Given the description of an element on the screen output the (x, y) to click on. 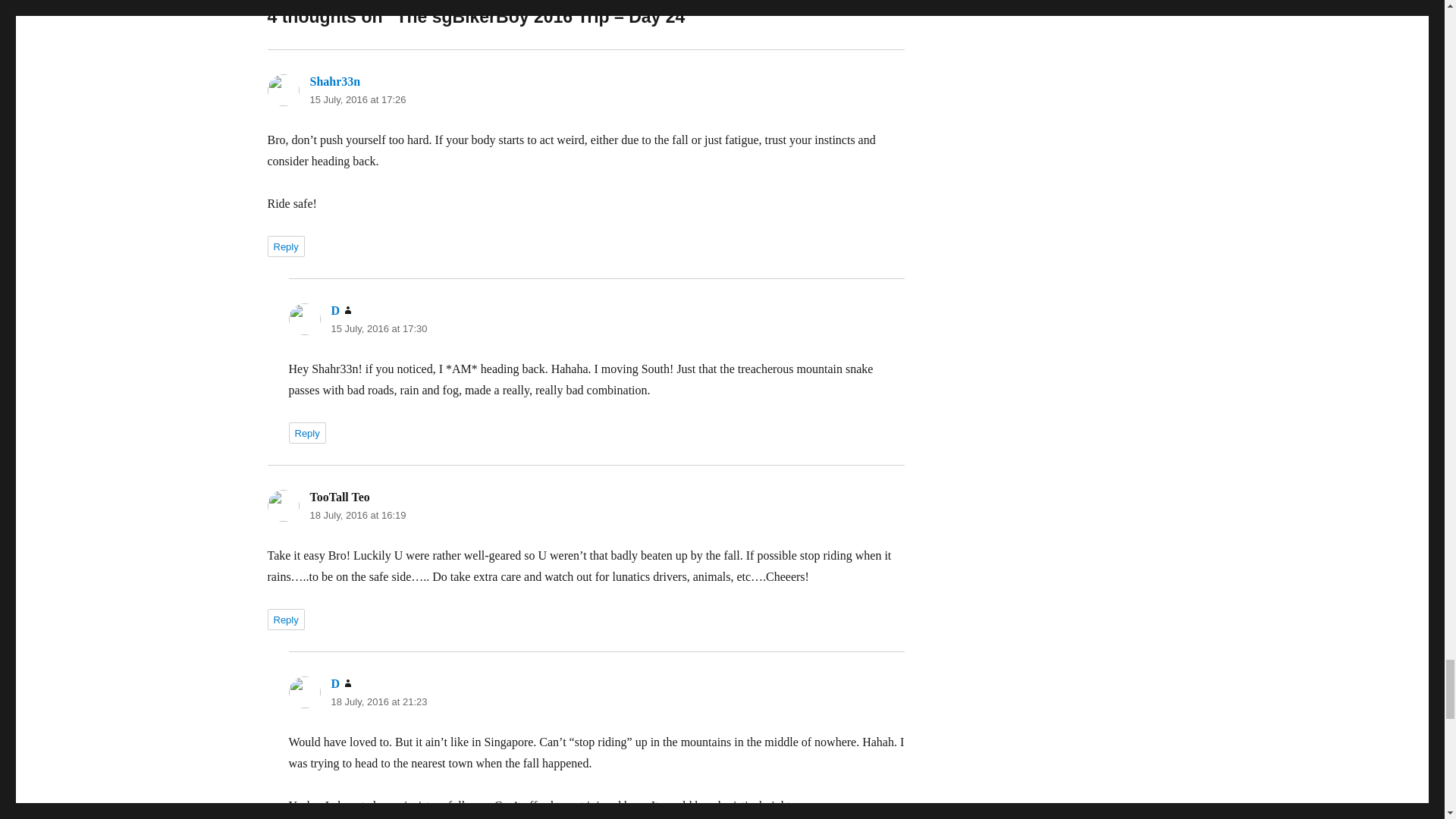
15 July, 2016 at 17:26 (357, 99)
Shahr33n (333, 81)
Reply (285, 246)
